Given the description of an element on the screen output the (x, y) to click on. 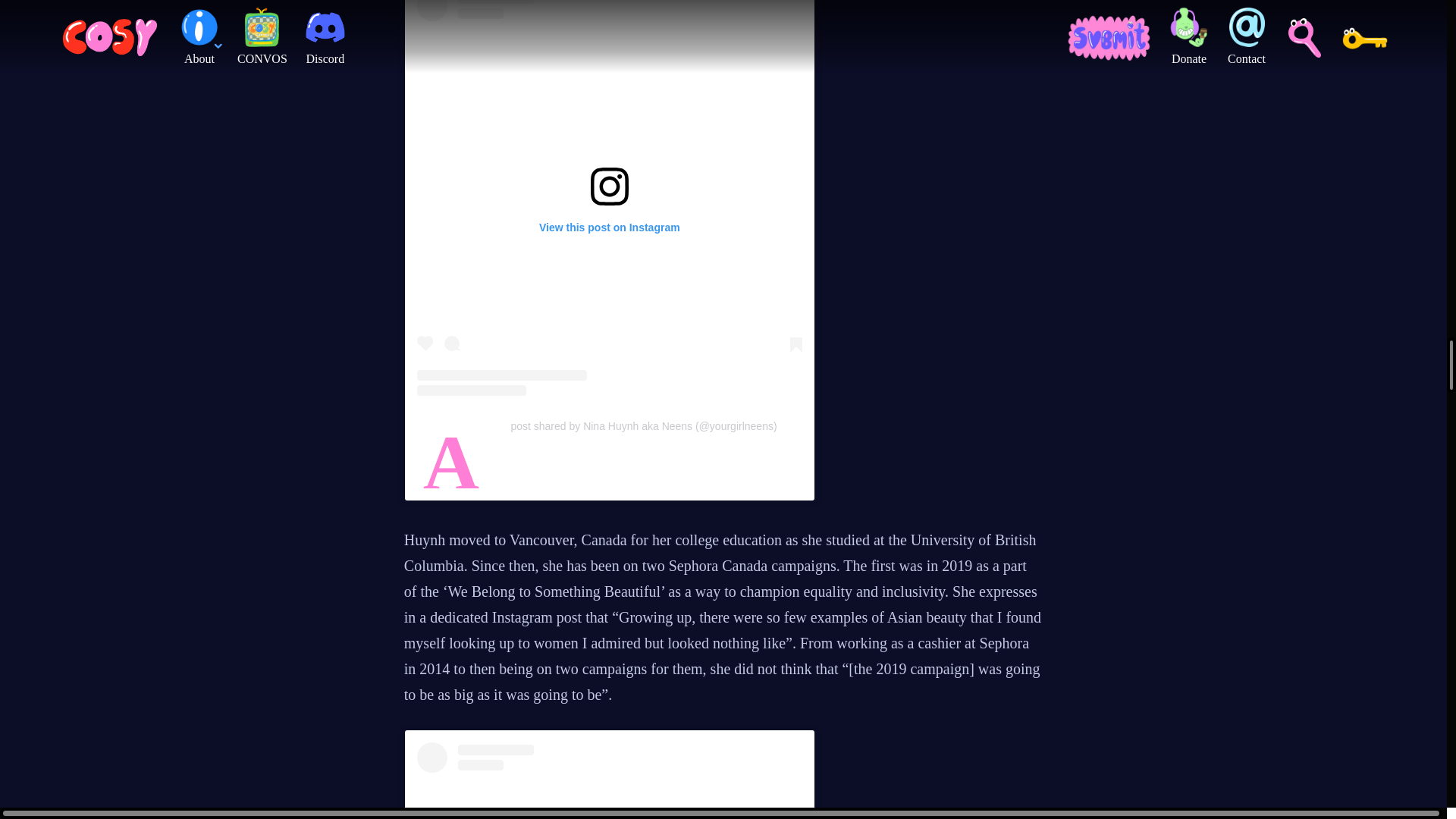
View this post on Instagram (609, 780)
